Given the description of an element on the screen output the (x, y) to click on. 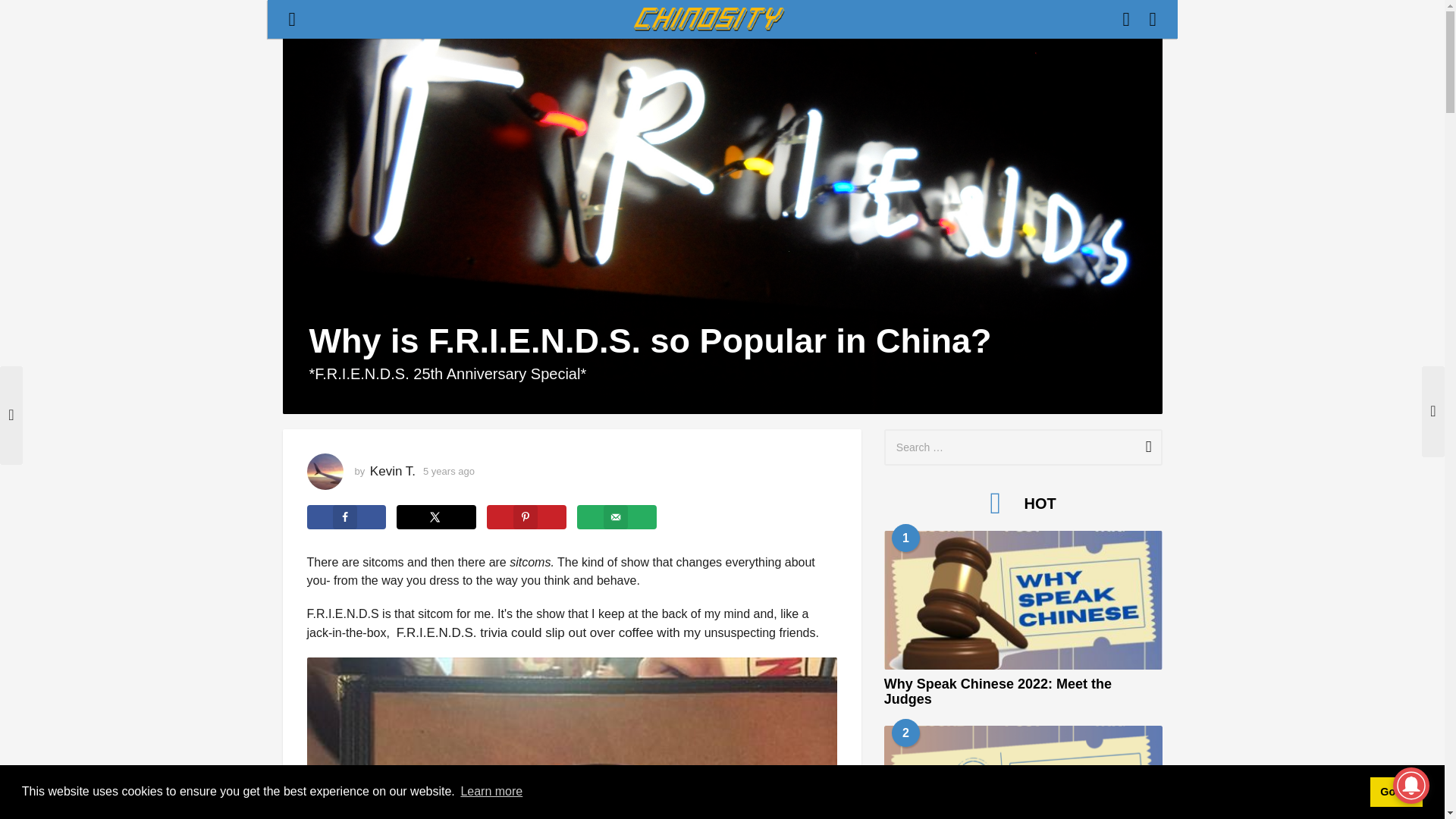
Share on Facebook (345, 517)
HOME (298, 19)
Got it! (1396, 791)
Kevin T. (391, 471)
Save to Pinterest (526, 517)
Learn more (491, 791)
Share on X (436, 517)
Send over email (616, 517)
TV, MOVIES, MUSIC (489, 19)
Why Speak Chinese 2022: Meet the Judges (1022, 599)
Why is F.R.I.E.N.D.S. so Popular in China? (651, 19)
Why Speak Chinese 2022 Is Here! (1022, 772)
ENTERTAINMENT (378, 19)
